Given the description of an element on the screen output the (x, y) to click on. 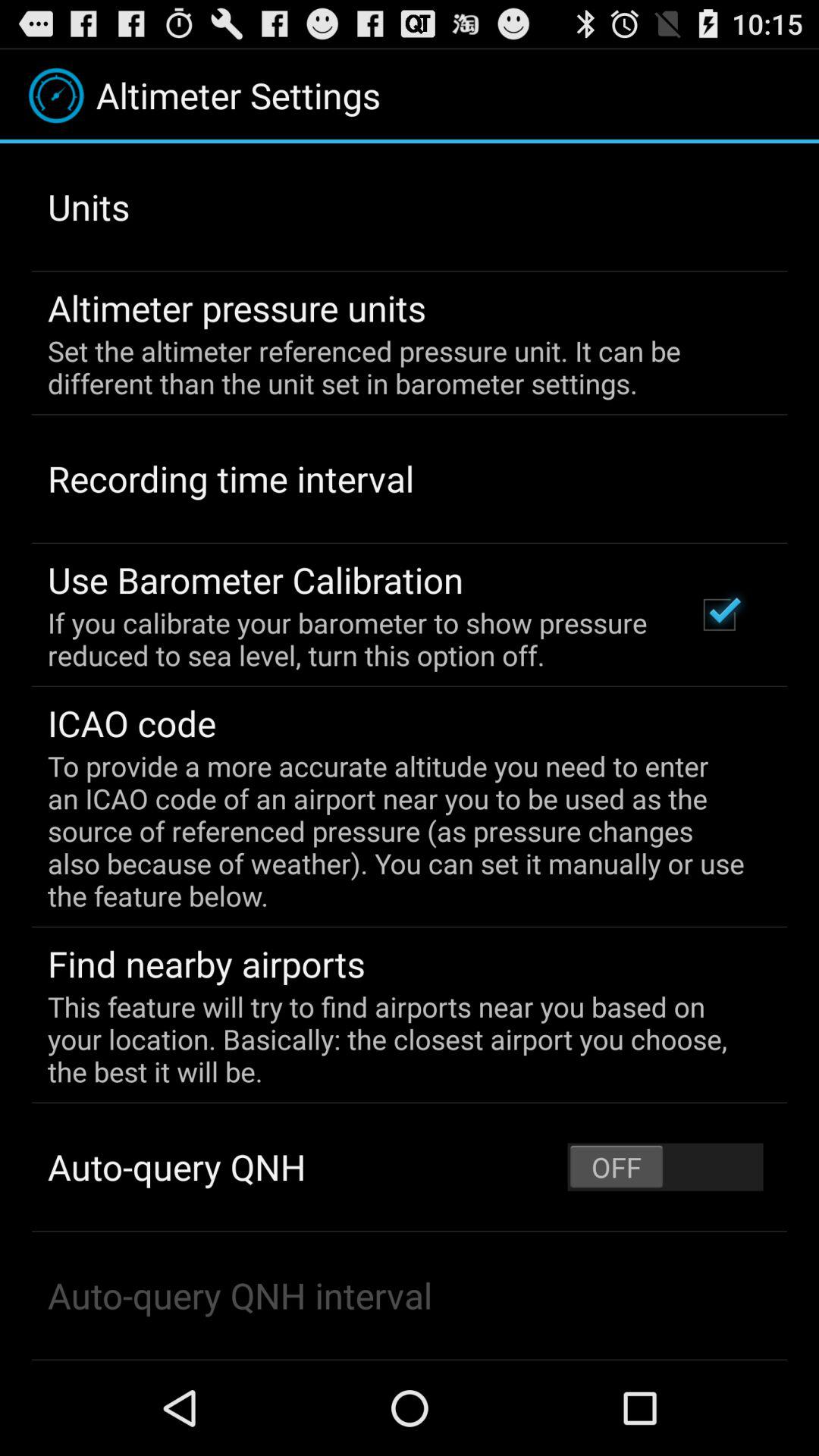
click the recording time interval icon (230, 478)
